Given the description of an element on the screen output the (x, y) to click on. 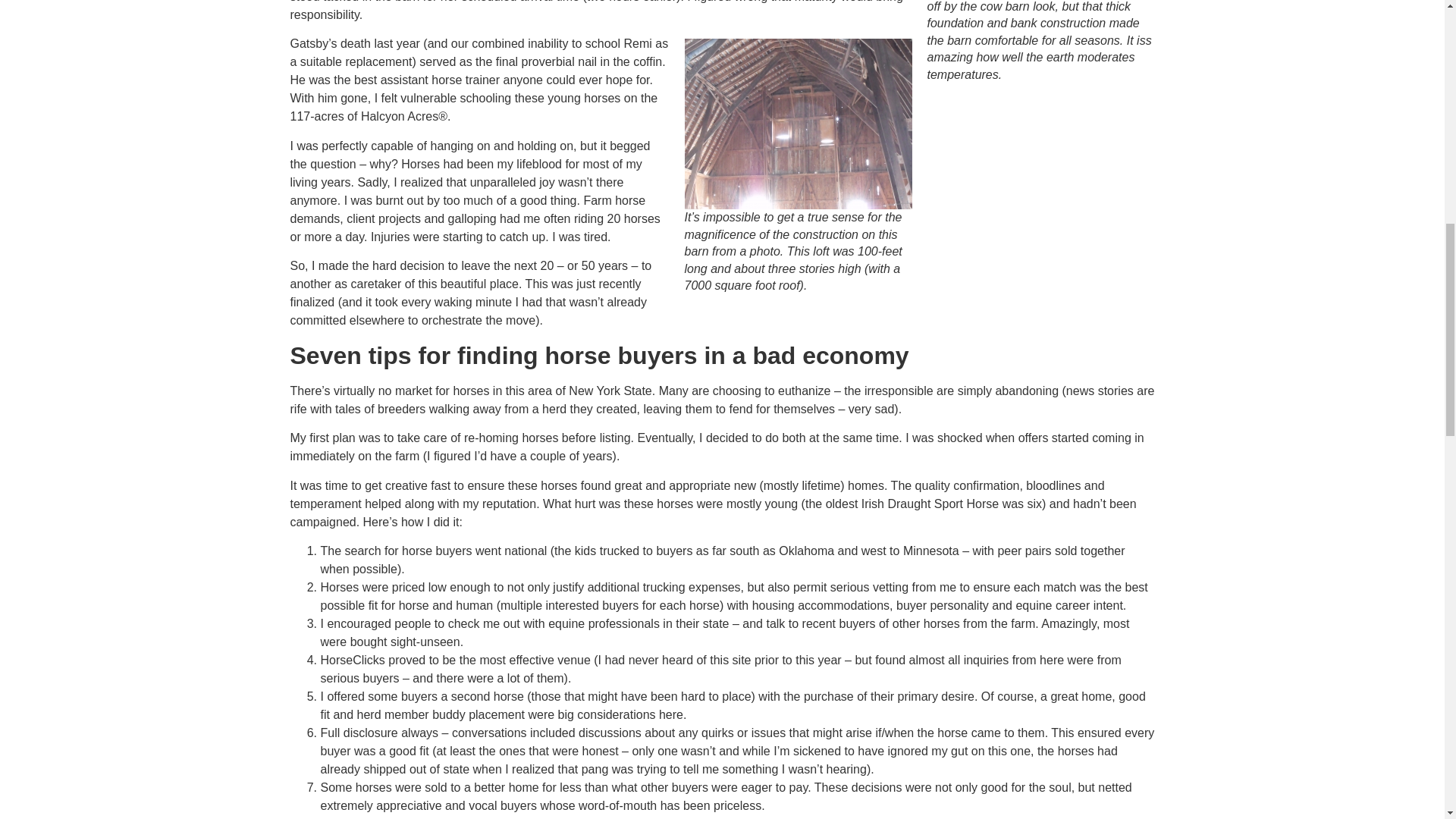
truss barn loft (797, 123)
